Given the description of an element on the screen output the (x, y) to click on. 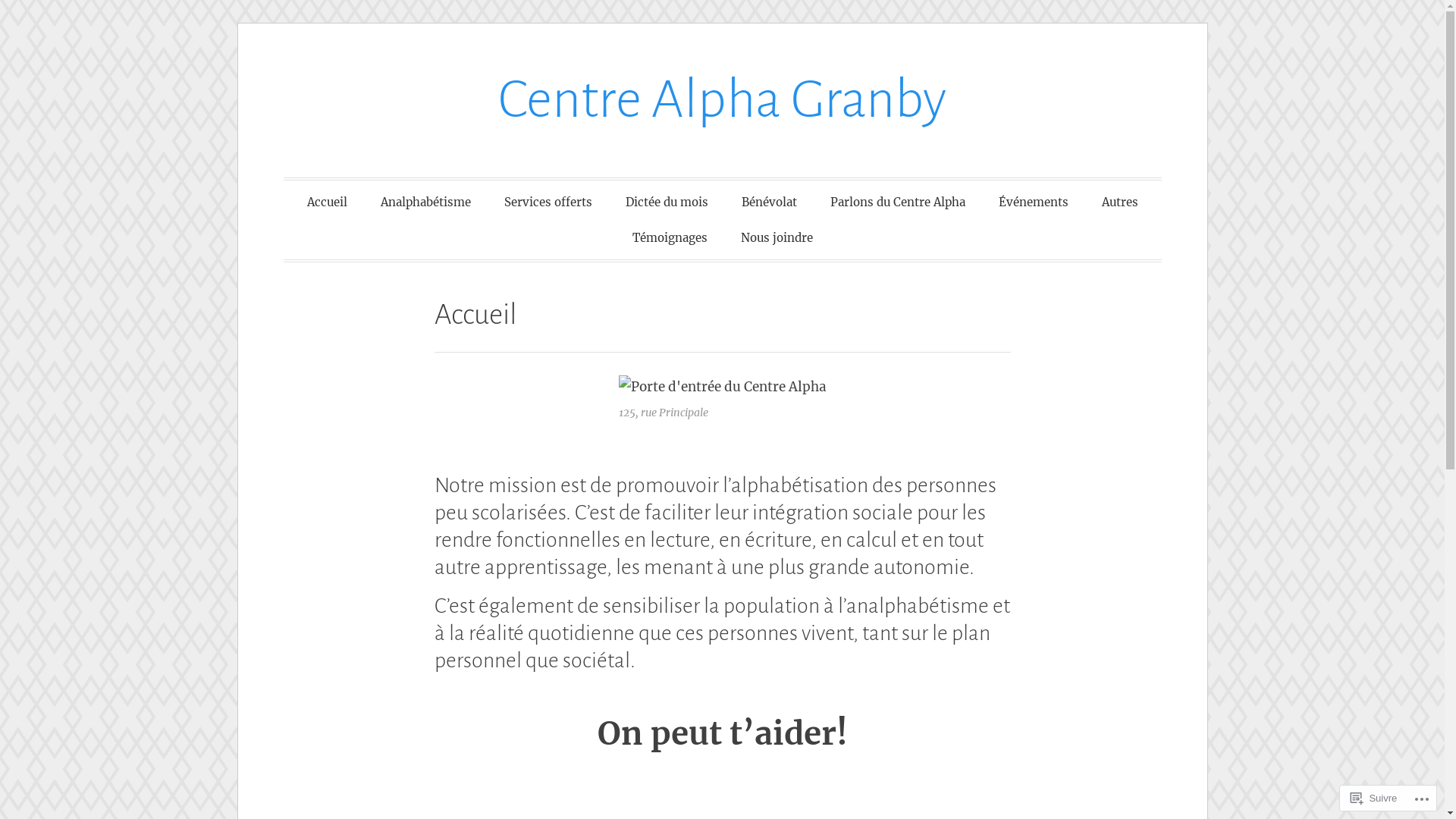
Services offerts Element type: text (547, 201)
Nous joindre Element type: text (775, 237)
Suivre Element type: text (1373, 797)
Accueil Element type: text (326, 201)
Centre Alpha Granby Element type: text (722, 99)
Autres Element type: text (1118, 201)
Parlons du Centre Alpha Element type: text (896, 201)
